Given the description of an element on the screen output the (x, y) to click on. 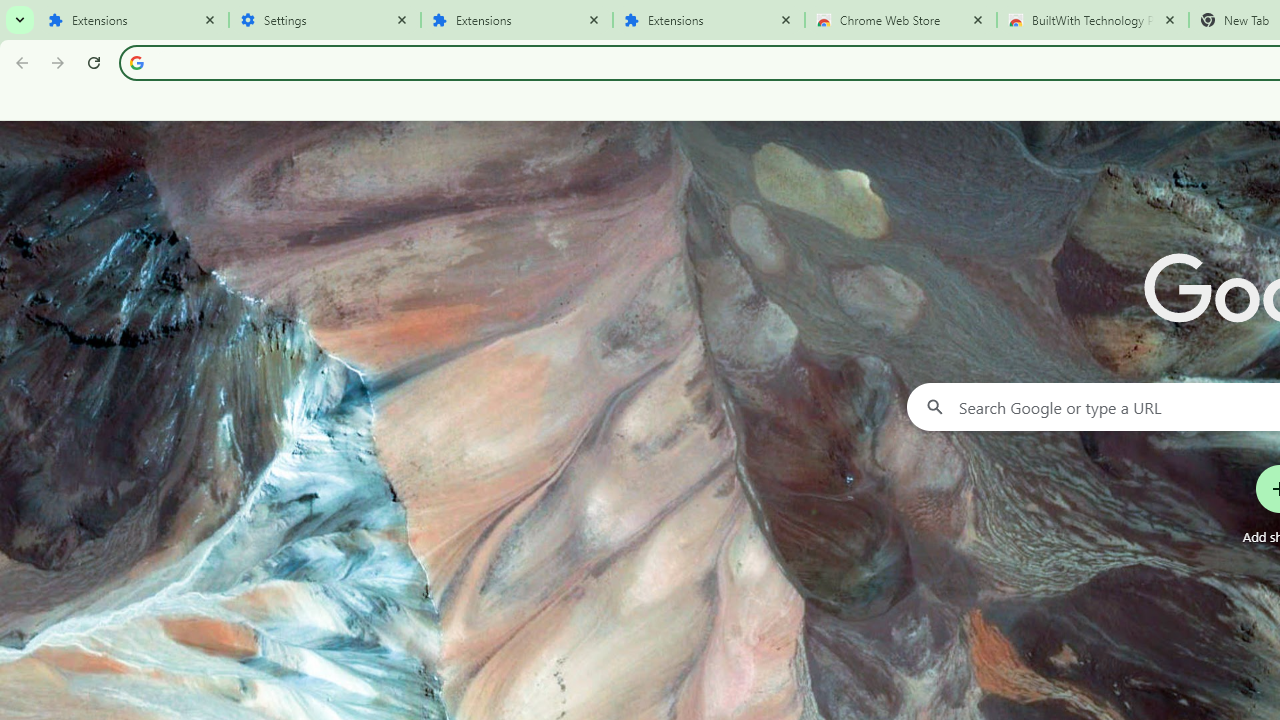
Settings (325, 20)
Extensions (133, 20)
Extensions (517, 20)
BuiltWith Technology Profiler - Chrome Web Store (1093, 20)
Search icon (136, 62)
Chrome Web Store (901, 20)
Extensions (709, 20)
